Given the description of an element on the screen output the (x, y) to click on. 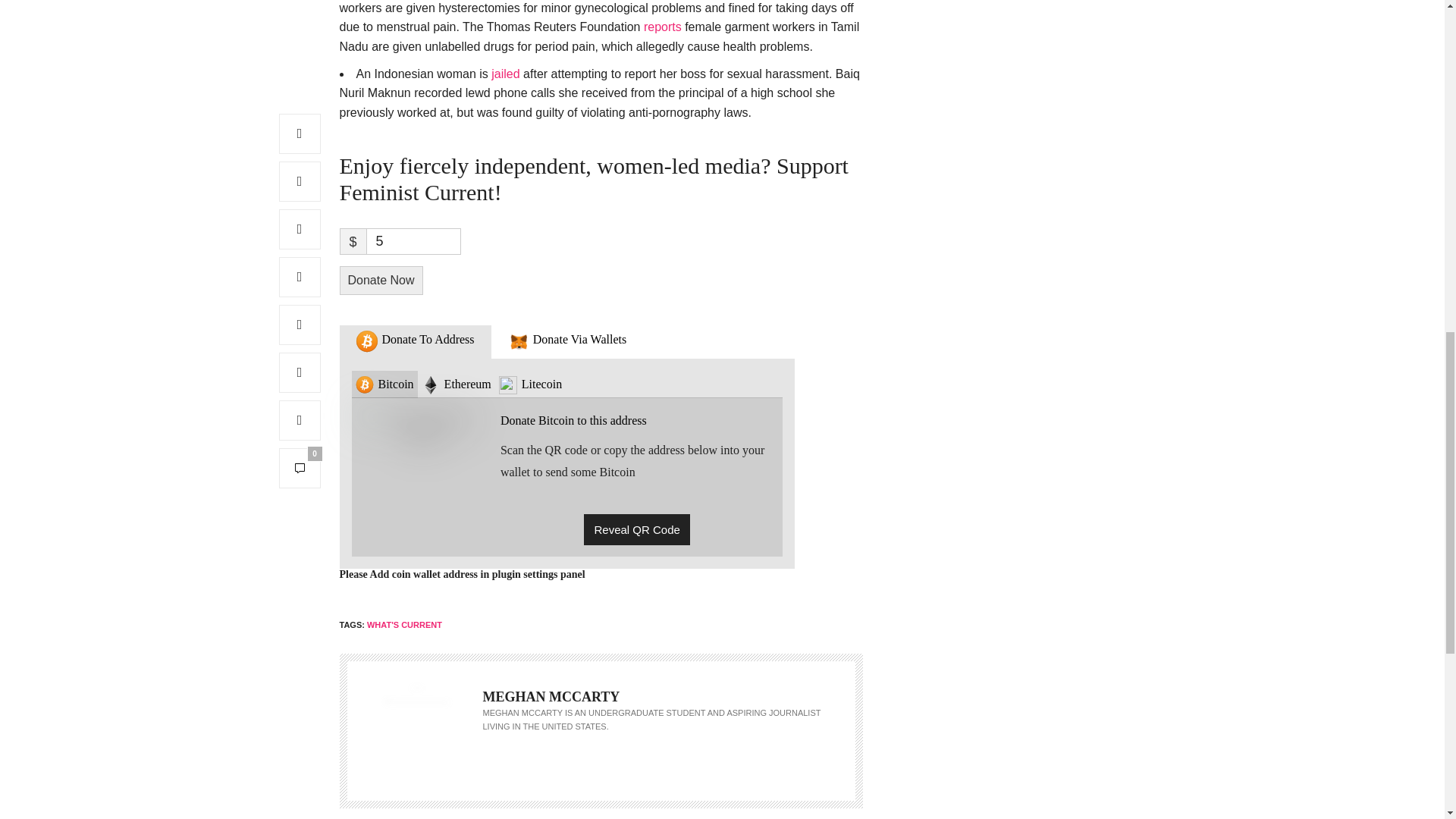
5 (413, 241)
